Given the description of an element on the screen output the (x, y) to click on. 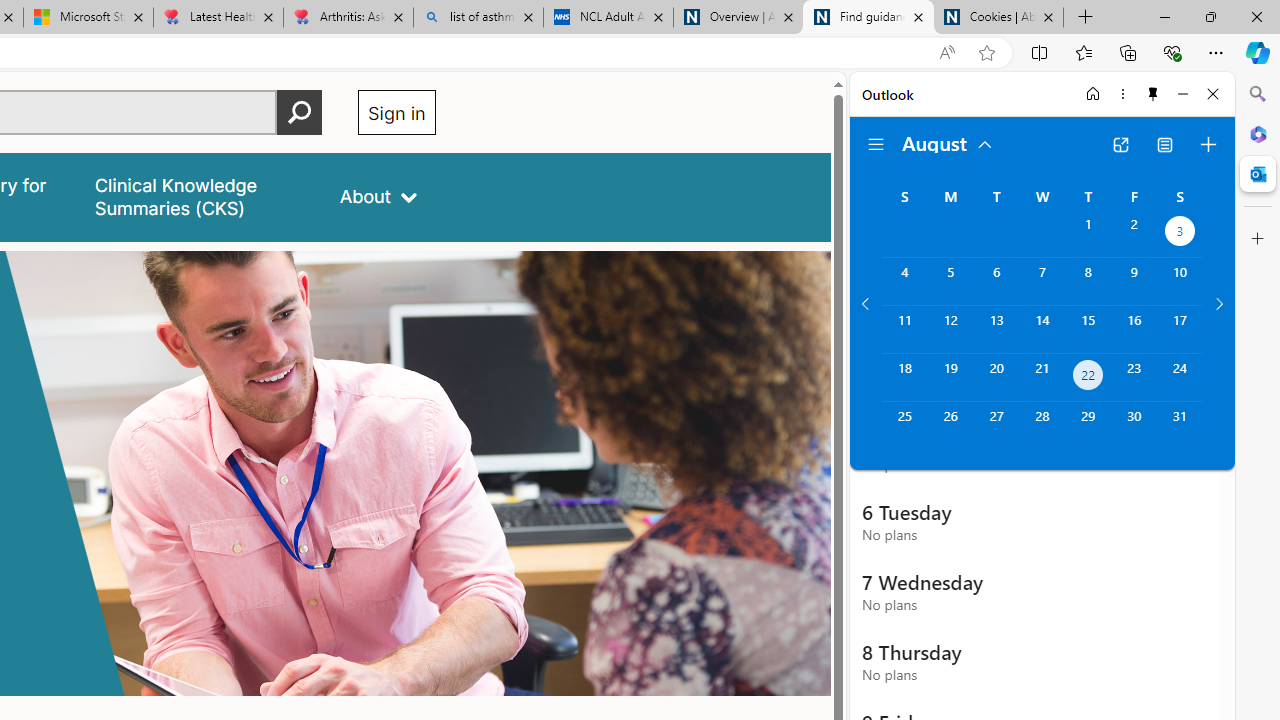
Saturday, August 17, 2024.  (1180, 329)
